Given the description of an element on the screen output the (x, y) to click on. 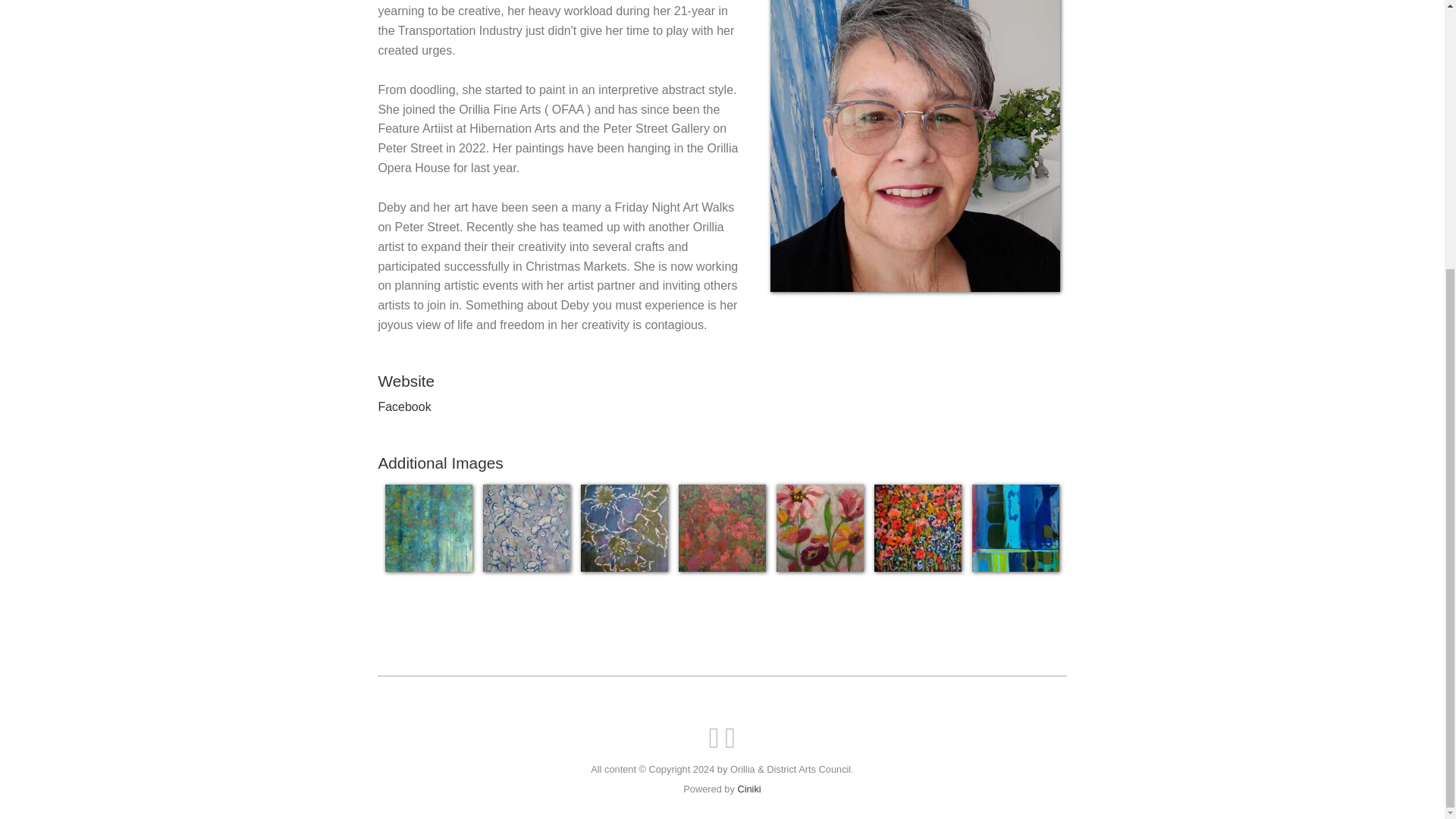
That (1015, 527)
Peach Me (721, 527)
Divine (526, 527)
Spring Pop - Sold (917, 527)
Loyal Friends (624, 527)
Facebook (403, 406)
Sisters - sold (819, 527)
Can (428, 527)
